Given the description of an element on the screen output the (x, y) to click on. 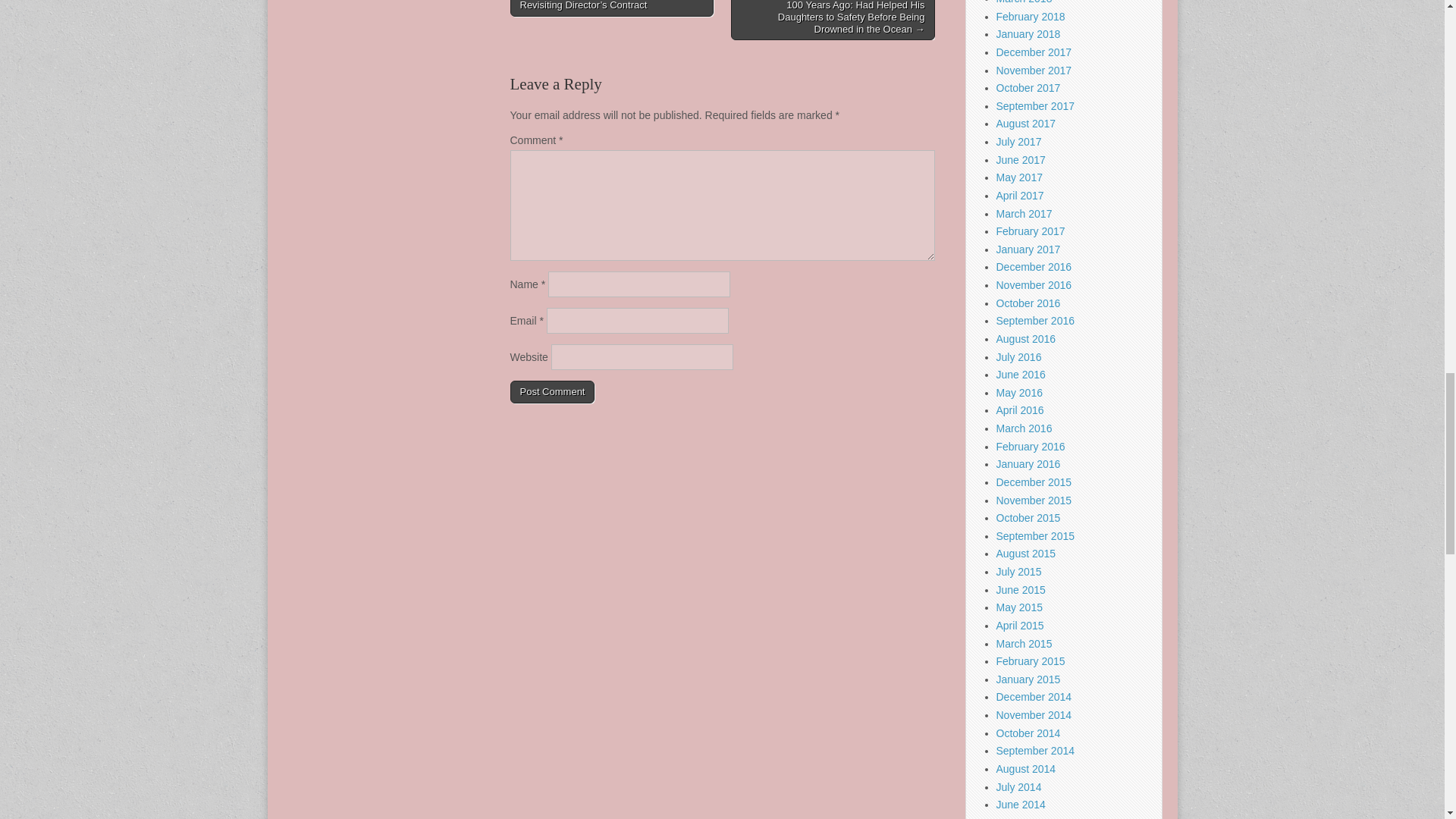
Post Comment (551, 391)
Post Comment (551, 391)
